Given the description of an element on the screen output the (x, y) to click on. 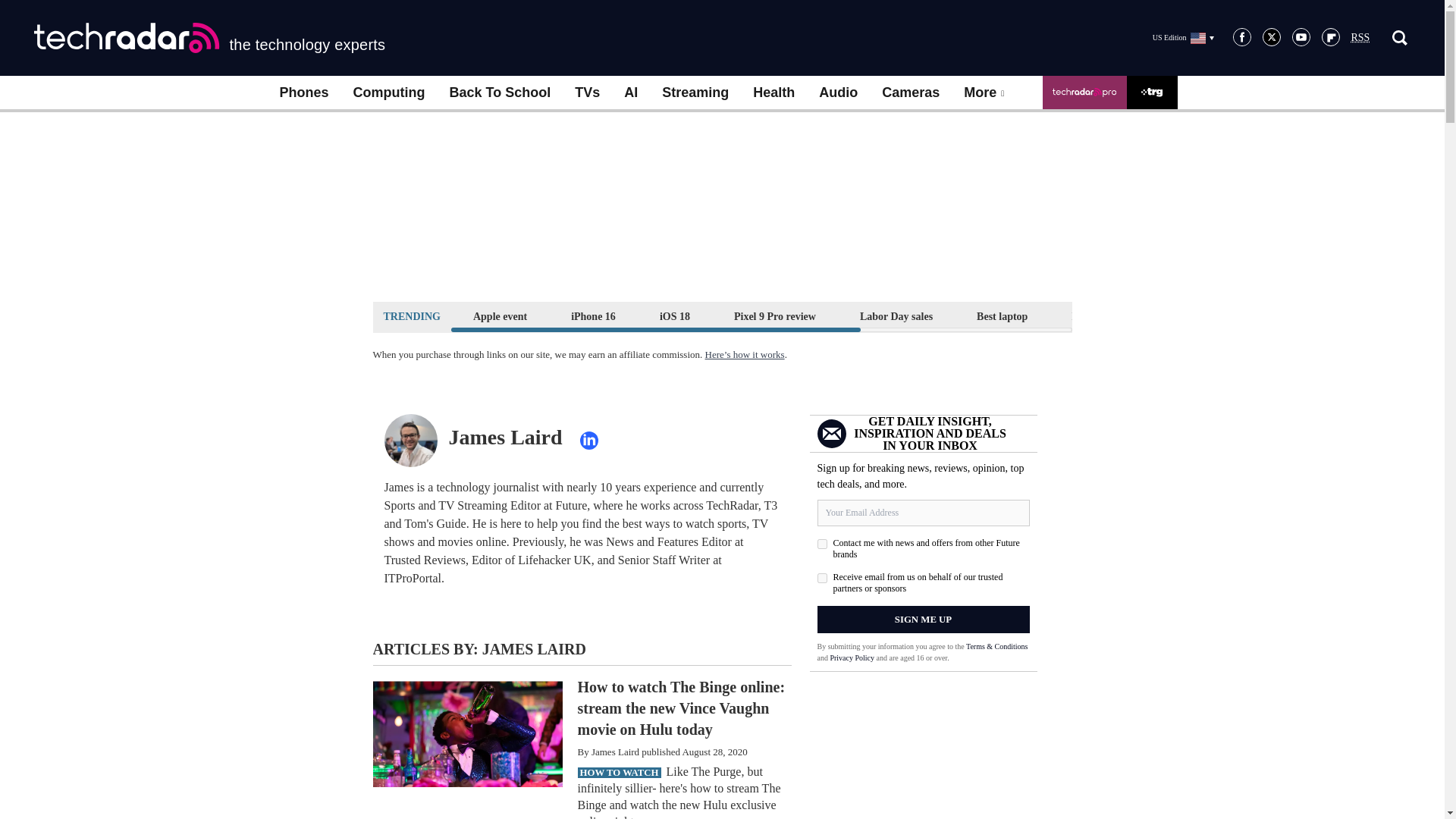
Streaming (695, 92)
Back To School (499, 92)
Health (773, 92)
Audio (837, 92)
AI (630, 92)
the technology experts (209, 38)
Phones (303, 92)
Cameras (910, 92)
Really Simple Syndication (1360, 37)
US Edition (1182, 37)
